Given the description of an element on the screen output the (x, y) to click on. 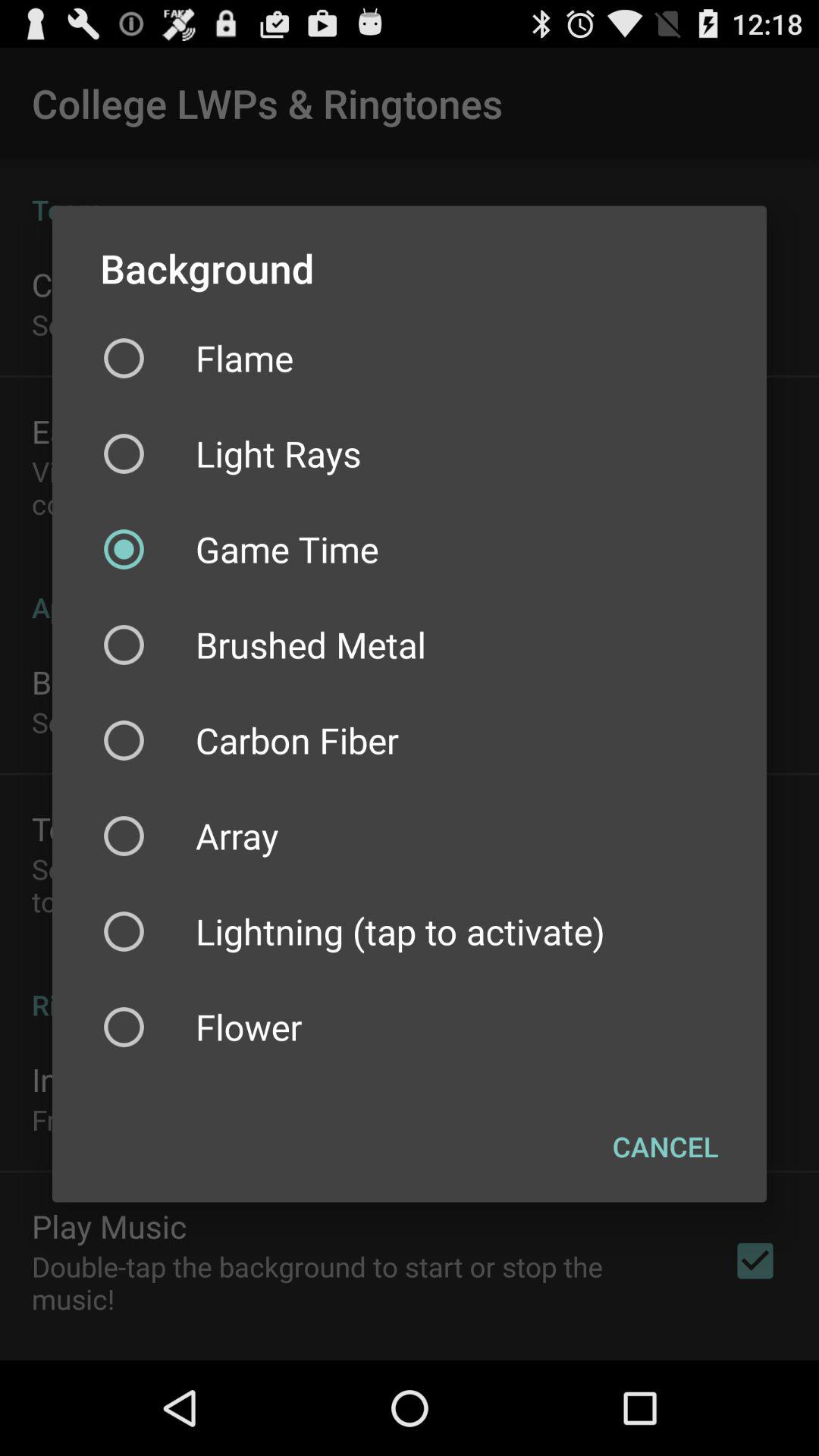
scroll to the cancel icon (665, 1146)
